Given the description of an element on the screen output the (x, y) to click on. 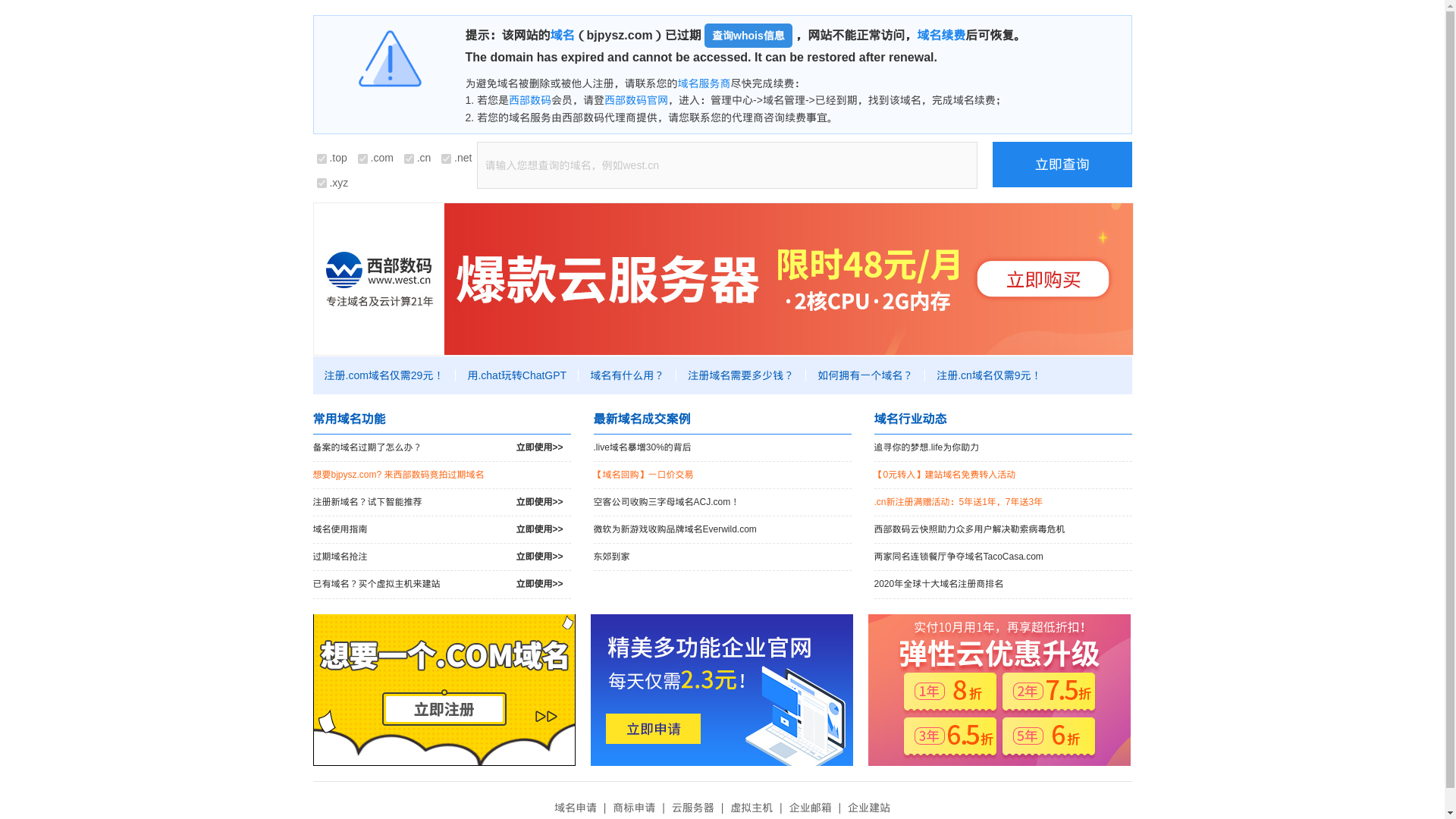
.top (321, 158)
.xyz (321, 183)
.com (363, 158)
.net (446, 158)
.cn (408, 158)
